Given the description of an element on the screen output the (x, y) to click on. 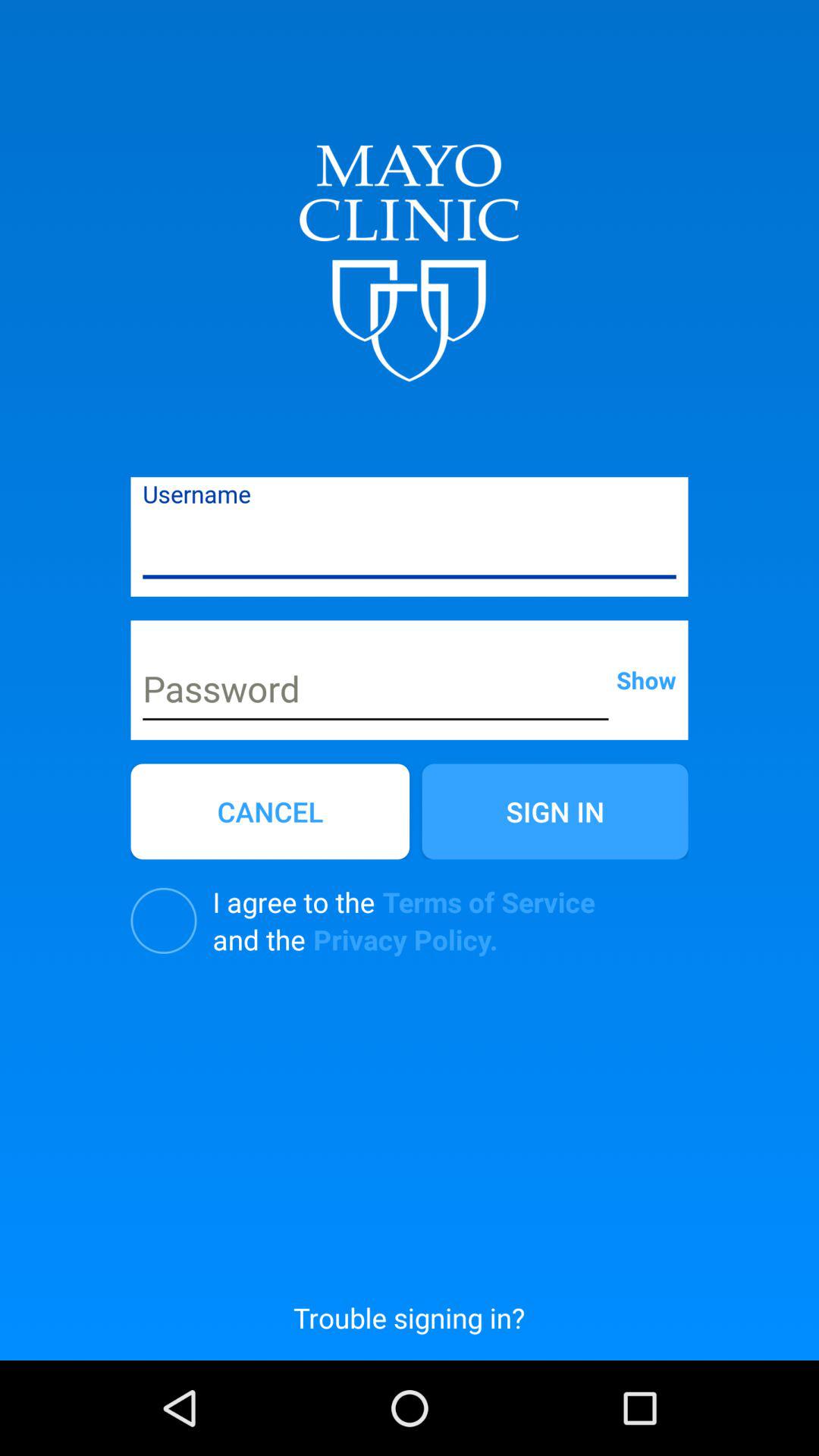
input password (375, 690)
